Given the description of an element on the screen output the (x, y) to click on. 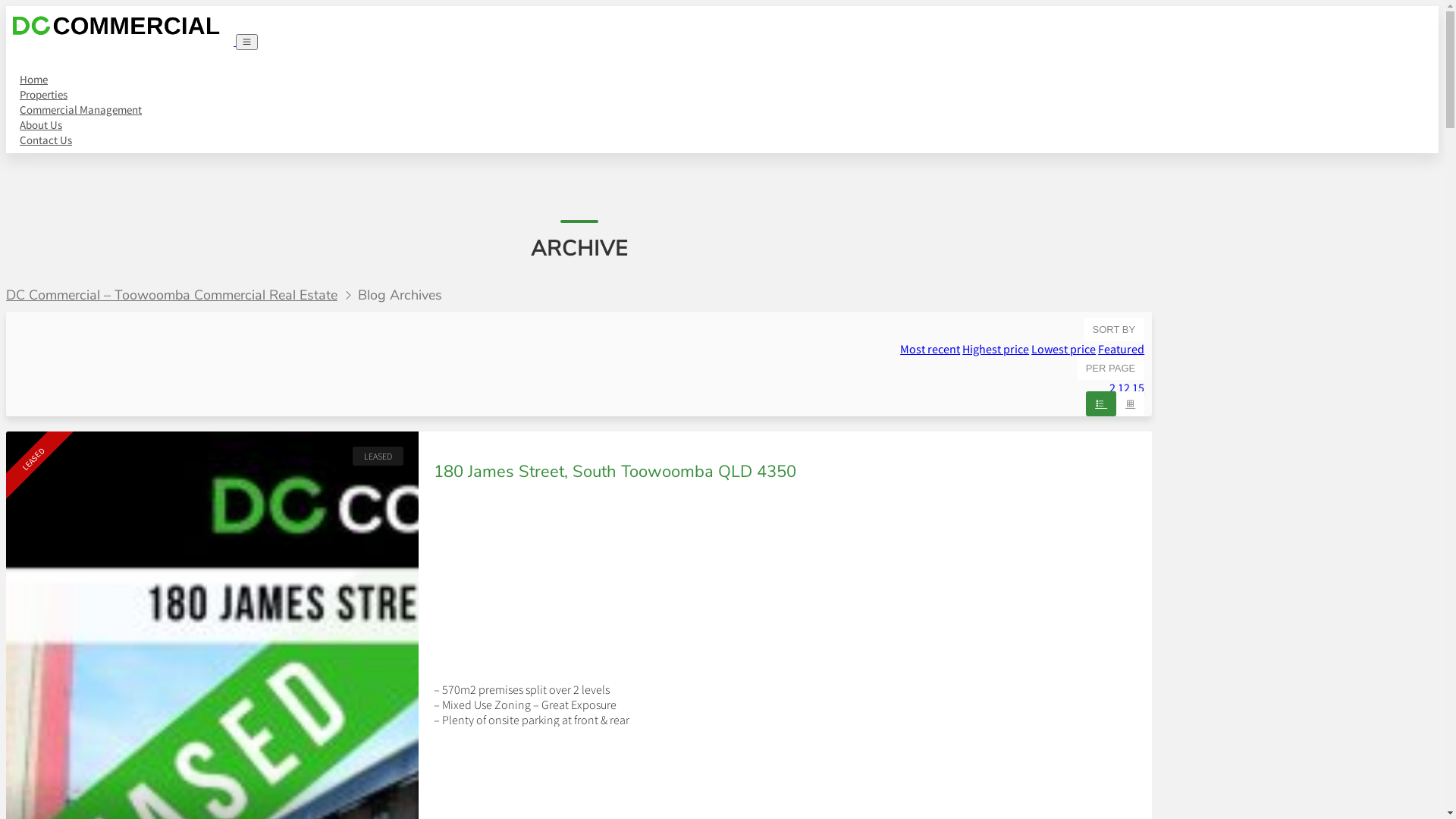
2 Element type: text (1112, 387)
Properties Element type: text (43, 94)
15 Element type: text (1138, 387)
About Us Element type: text (40, 124)
PER PAGE Element type: text (1110, 367)
Most recent Element type: text (930, 348)
12 Element type: text (1123, 387)
Lowest price Element type: text (1063, 348)
Home Element type: text (33, 79)
LEASED Element type: text (377, 455)
Contact Us Element type: text (45, 139)
Featured Element type: text (1121, 348)
Commercial Management Element type: text (80, 109)
Highest price Element type: text (995, 348)
180 James Street, South Toowoomba QLD 4350 Element type: text (614, 471)
SORT BY Element type: text (1114, 329)
